Given the description of an element on the screen output the (x, y) to click on. 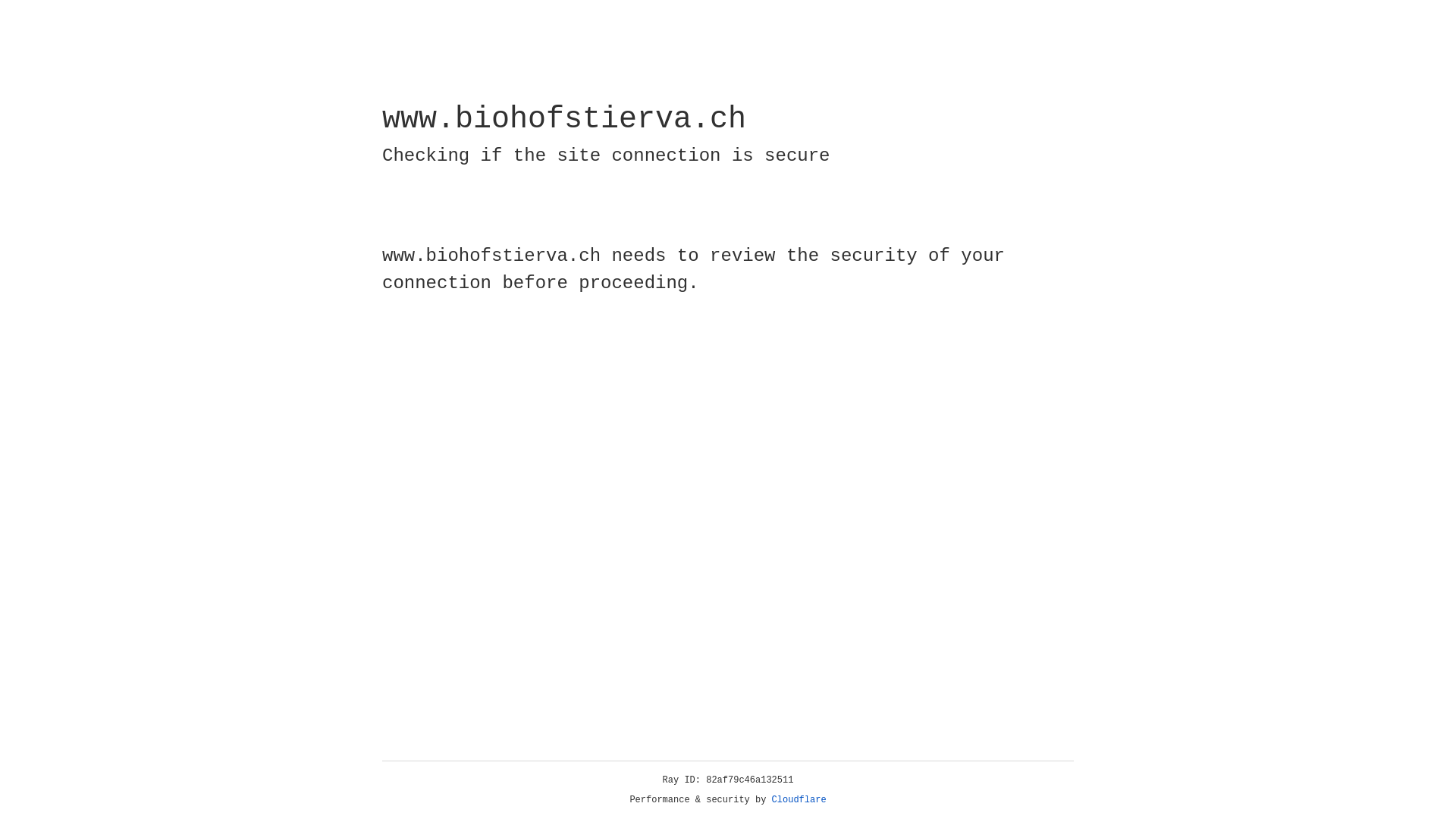
Cloudflare Element type: text (798, 799)
